Given the description of an element on the screen output the (x, y) to click on. 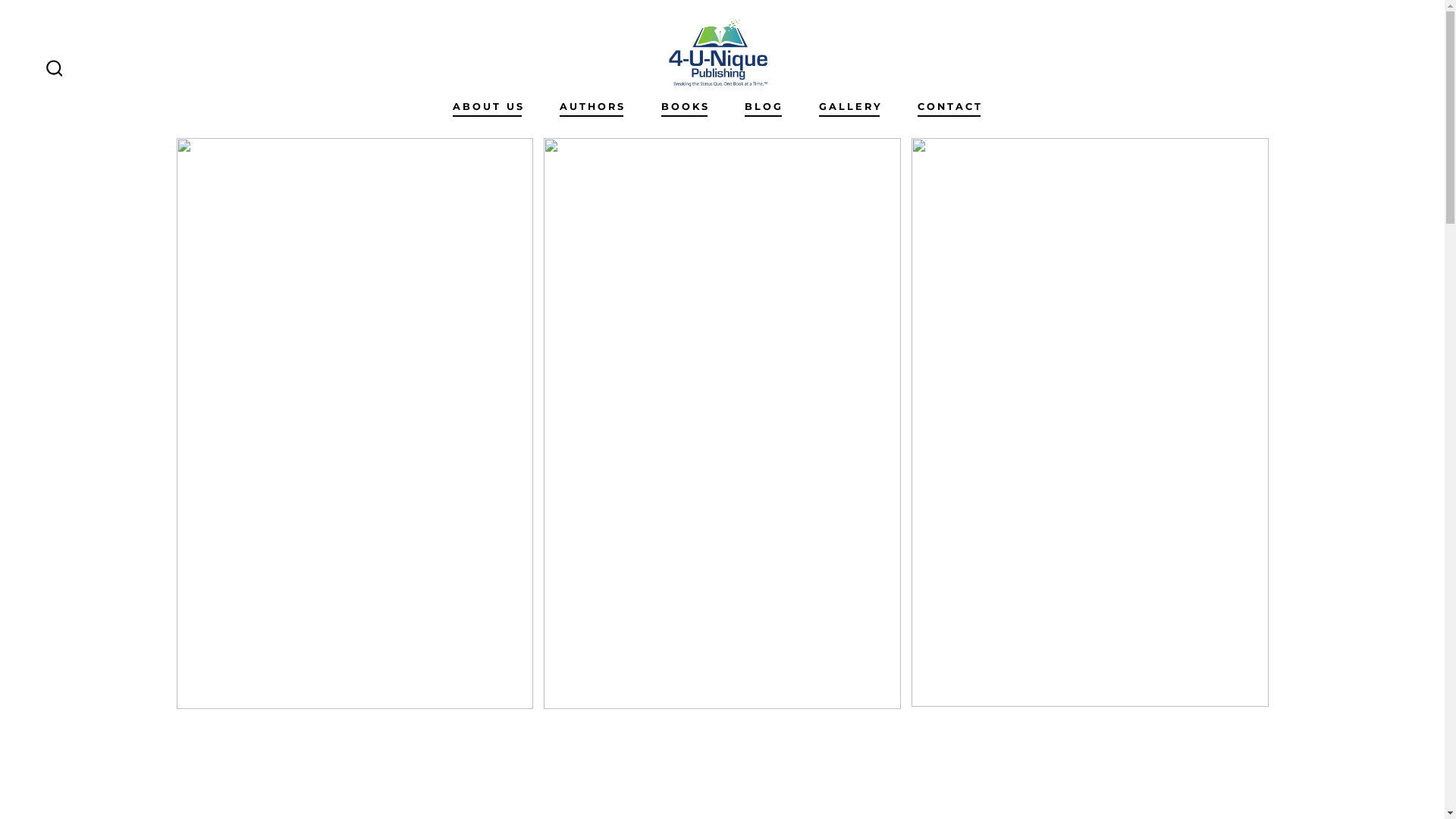
BOOKS Element type: text (685, 107)
SEARCH TOGGLE Element type: text (54, 68)
CONTACT Element type: text (949, 107)
BLOG Element type: text (763, 107)
ABOUT US Element type: text (488, 107)
AUTHORS Element type: text (592, 107)
GALLERY Element type: text (850, 107)
